Given the description of an element on the screen output the (x, y) to click on. 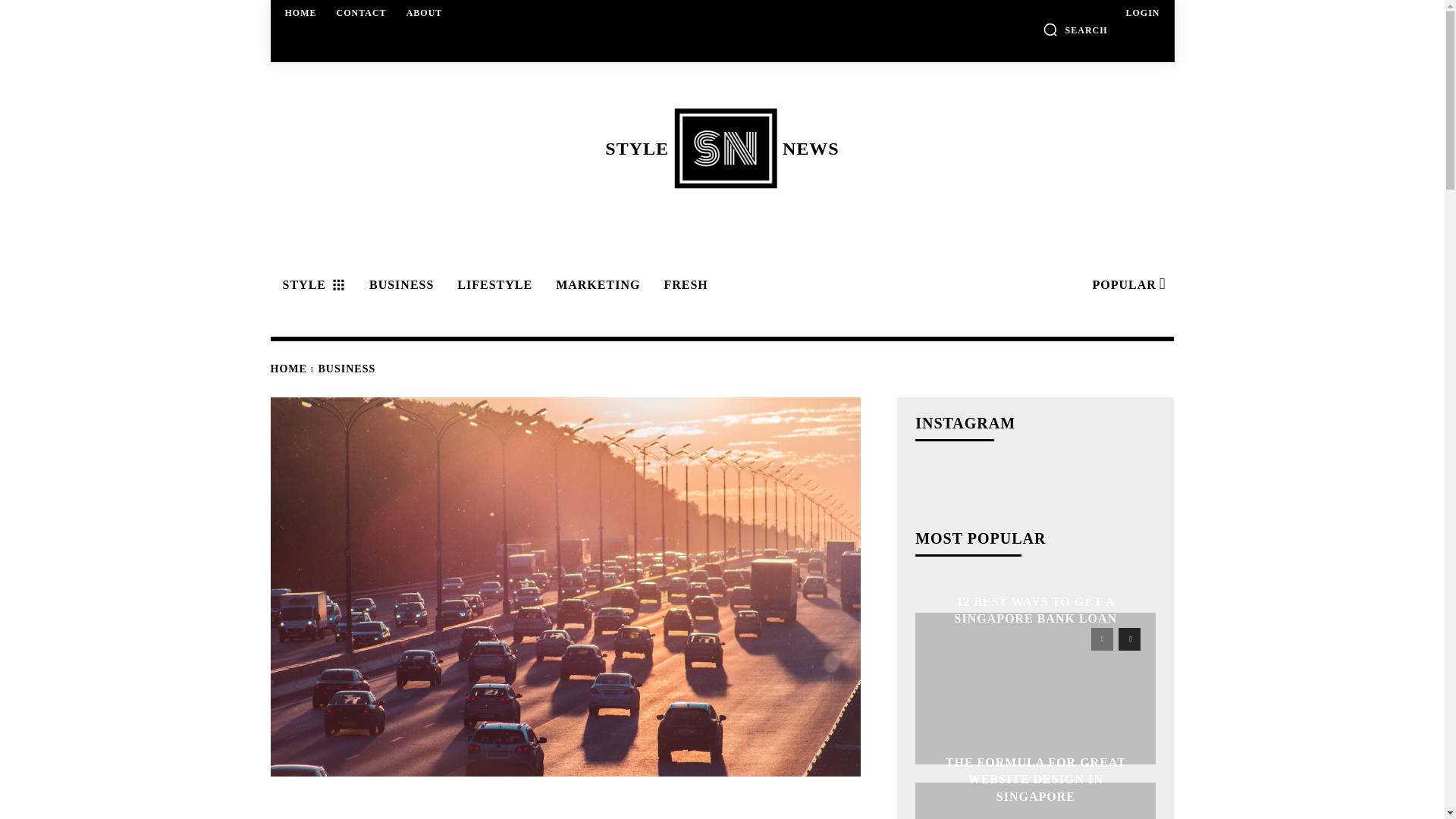
POPULAR (1126, 285)
STYLE (310, 285)
HOME (301, 12)
LOGIN (721, 148)
ABOUT (1141, 12)
CONTACT (423, 12)
SEARCH (361, 12)
